Given the description of an element on the screen output the (x, y) to click on. 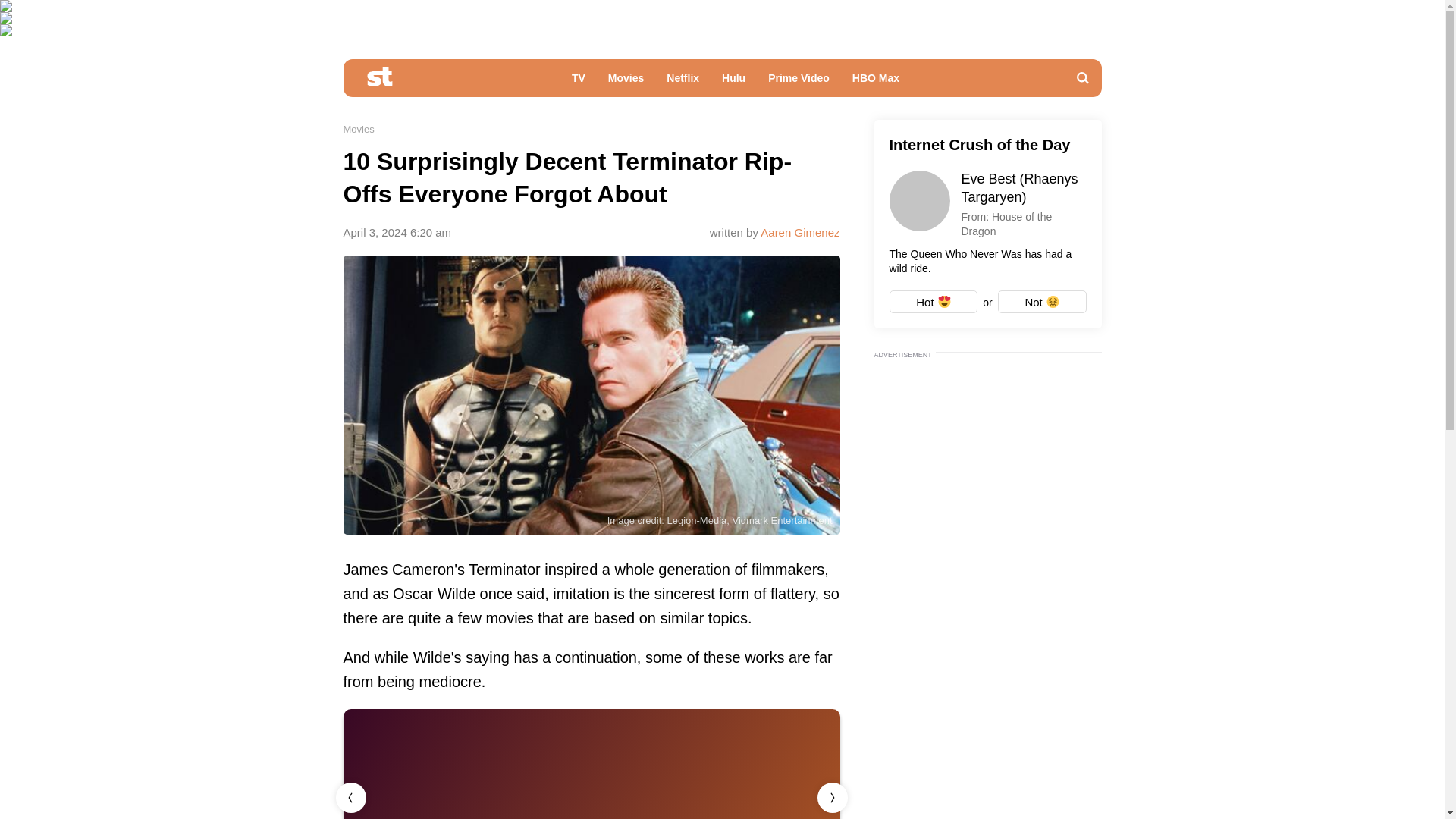
Movies (358, 128)
Hot (932, 301)
Netflix (682, 82)
Not (1041, 301)
HBO Max (876, 82)
Aaren Gimenez (800, 232)
Prime Video (799, 82)
TV (578, 82)
Movies (625, 82)
Hulu (733, 82)
